Given the description of an element on the screen output the (x, y) to click on. 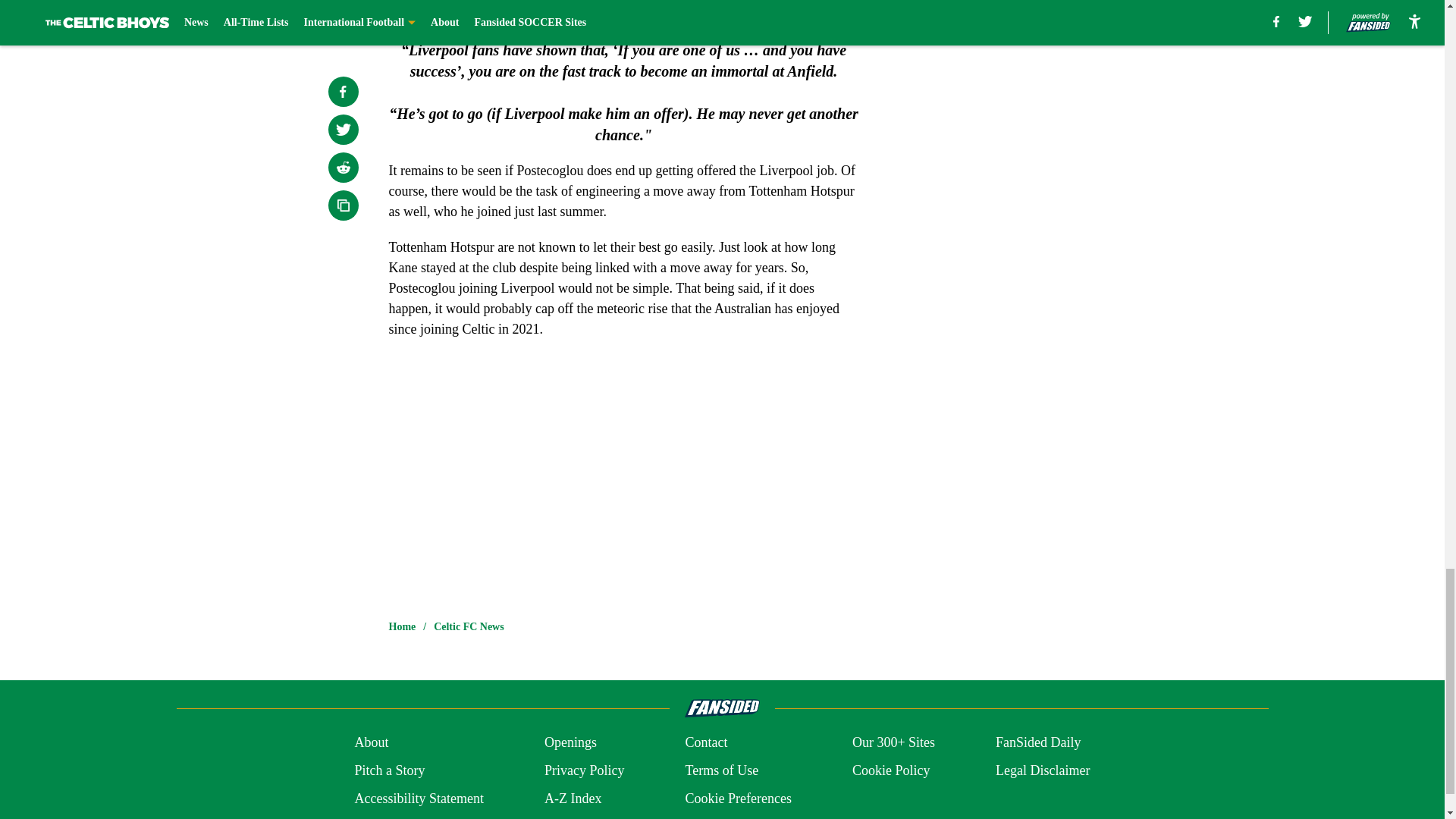
Accessibility Statement (418, 798)
Privacy Policy (584, 770)
Legal Disclaimer (1042, 770)
Home (401, 626)
Contact (705, 742)
FanSided Daily (1038, 742)
Cookie Preferences (737, 798)
Terms of Use (721, 770)
Pitch a Story (389, 770)
Cookie Policy (890, 770)
